Given the description of an element on the screen output the (x, y) to click on. 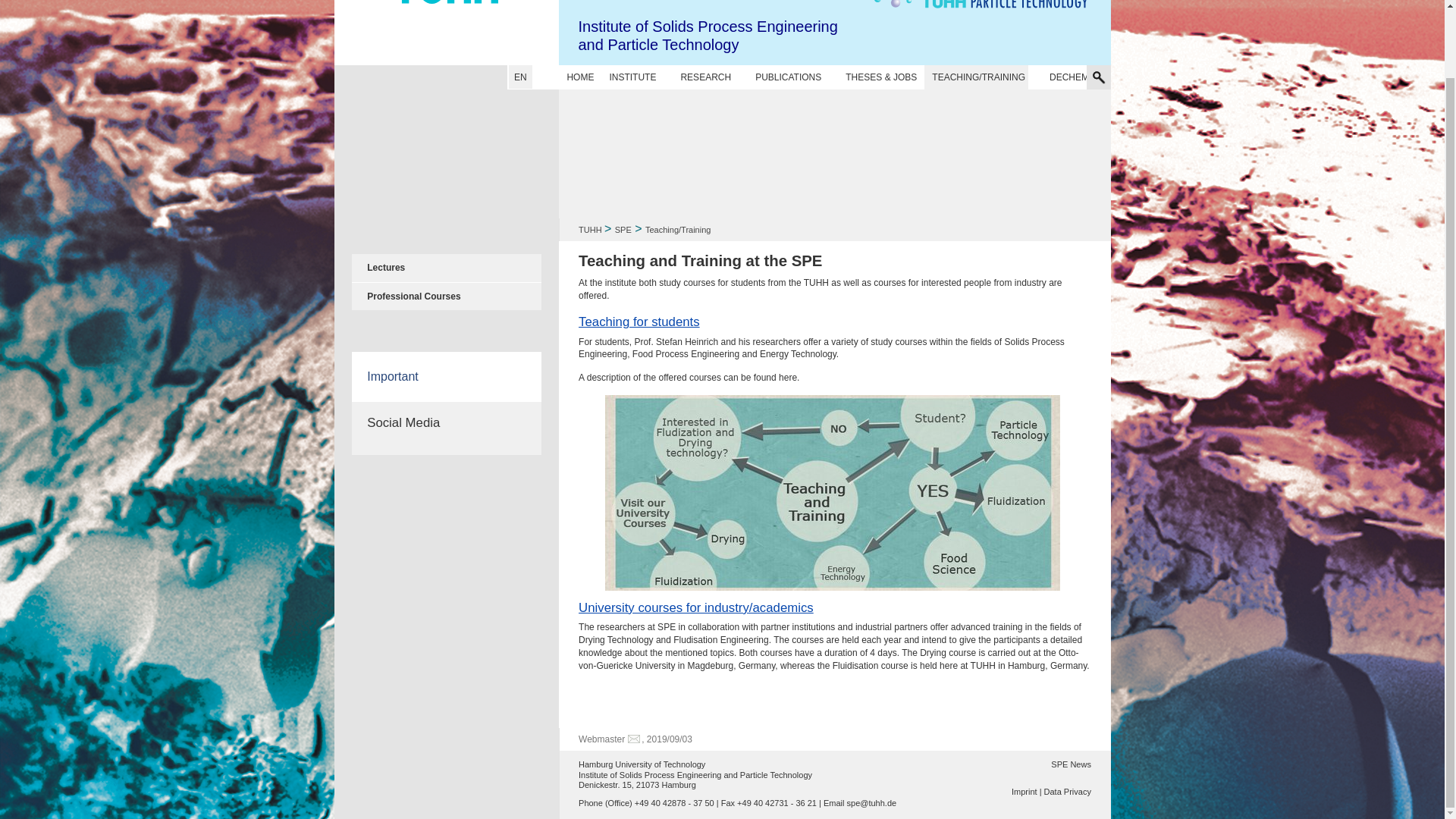
TUHH Website (446, 32)
Data Privacy (1066, 791)
INSTITUTE (632, 77)
show search form (1097, 77)
HOME (580, 77)
Imprint (1026, 791)
search (1046, 37)
SPE (1070, 764)
